Given the description of an element on the screen output the (x, y) to click on. 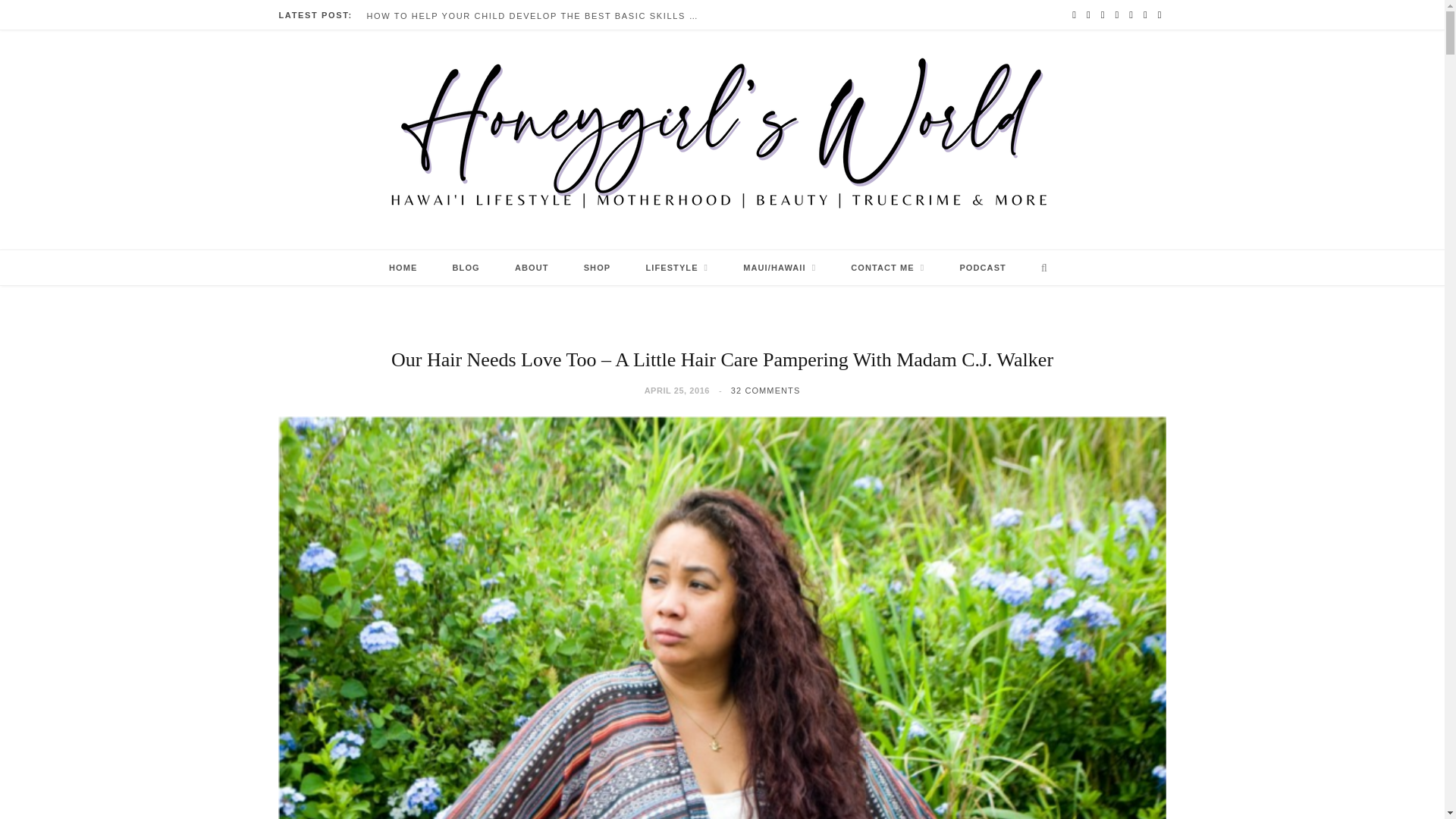
PODCAST (982, 267)
ABOUT (531, 267)
32 COMMENTS (765, 389)
APRIL 25, 2016 (677, 389)
SHOP (597, 267)
HOME (402, 267)
LIFESTYLE (675, 267)
BLOG (466, 267)
